Given the description of an element on the screen output the (x, y) to click on. 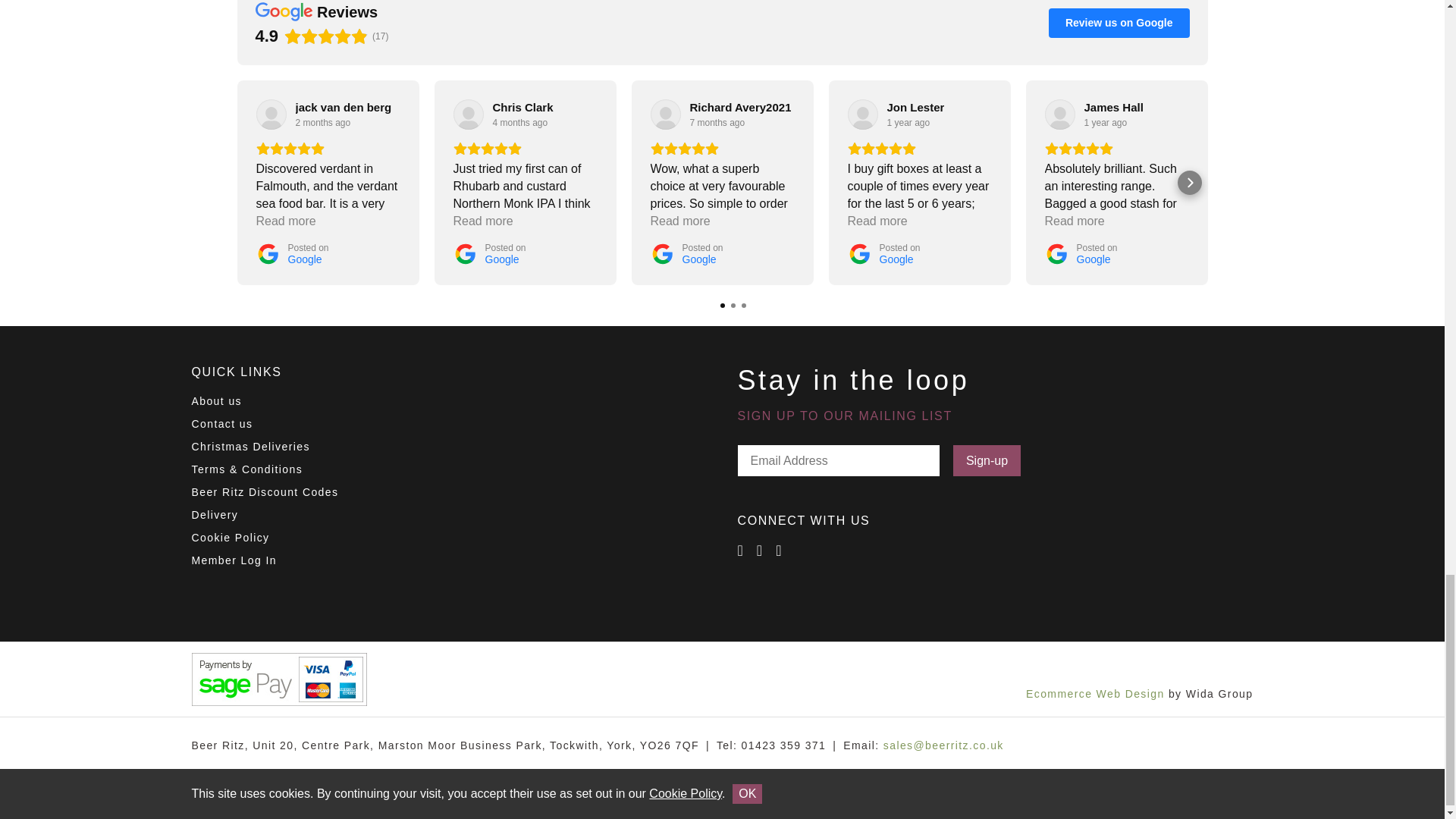
Review us on Google (1118, 22)
Sign-up (986, 460)
